Given the description of an element on the screen output the (x, y) to click on. 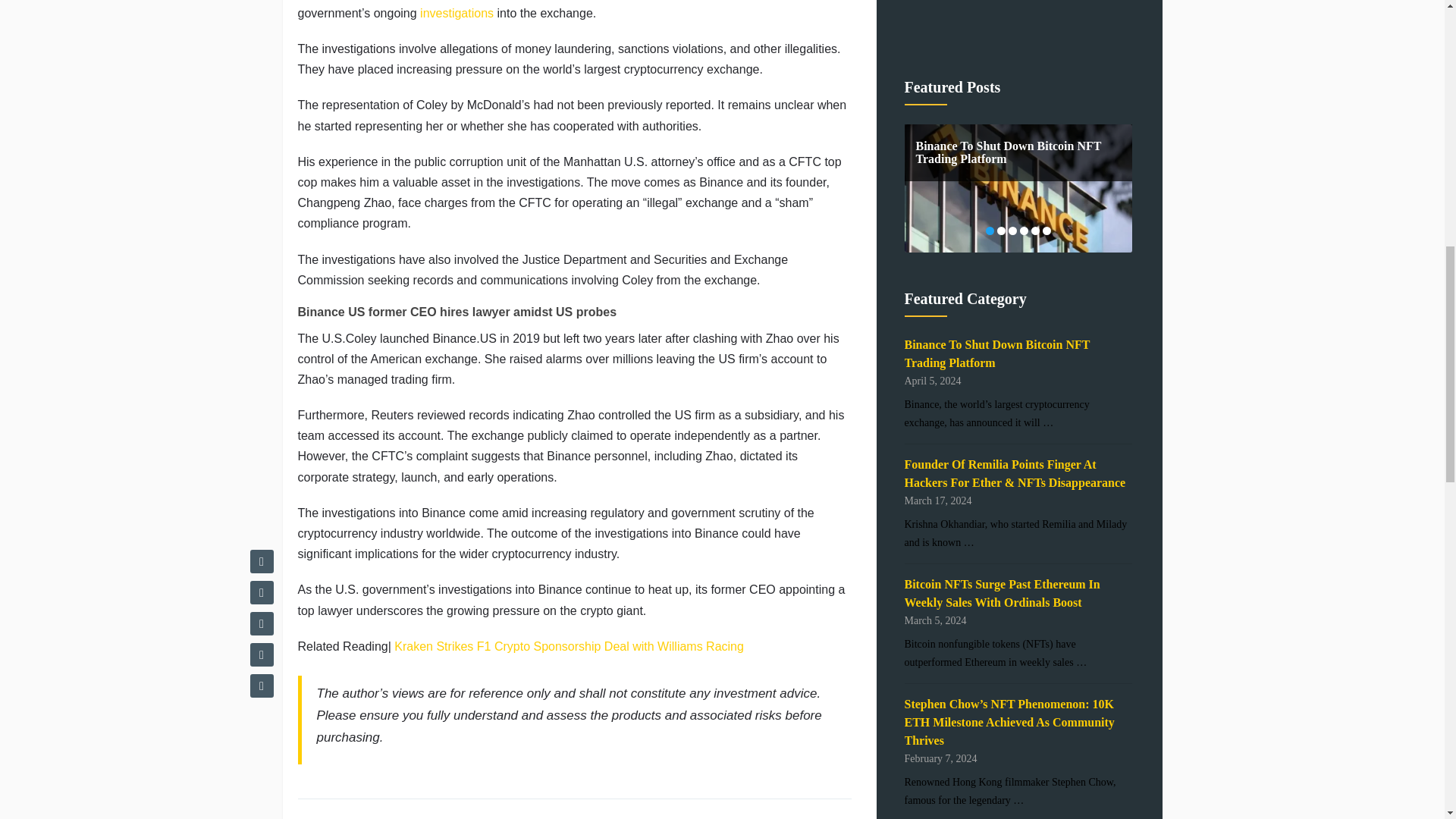
Binance To Shut Down Bitcoin NFT Trading Platform (996, 353)
